Given the description of an element on the screen output the (x, y) to click on. 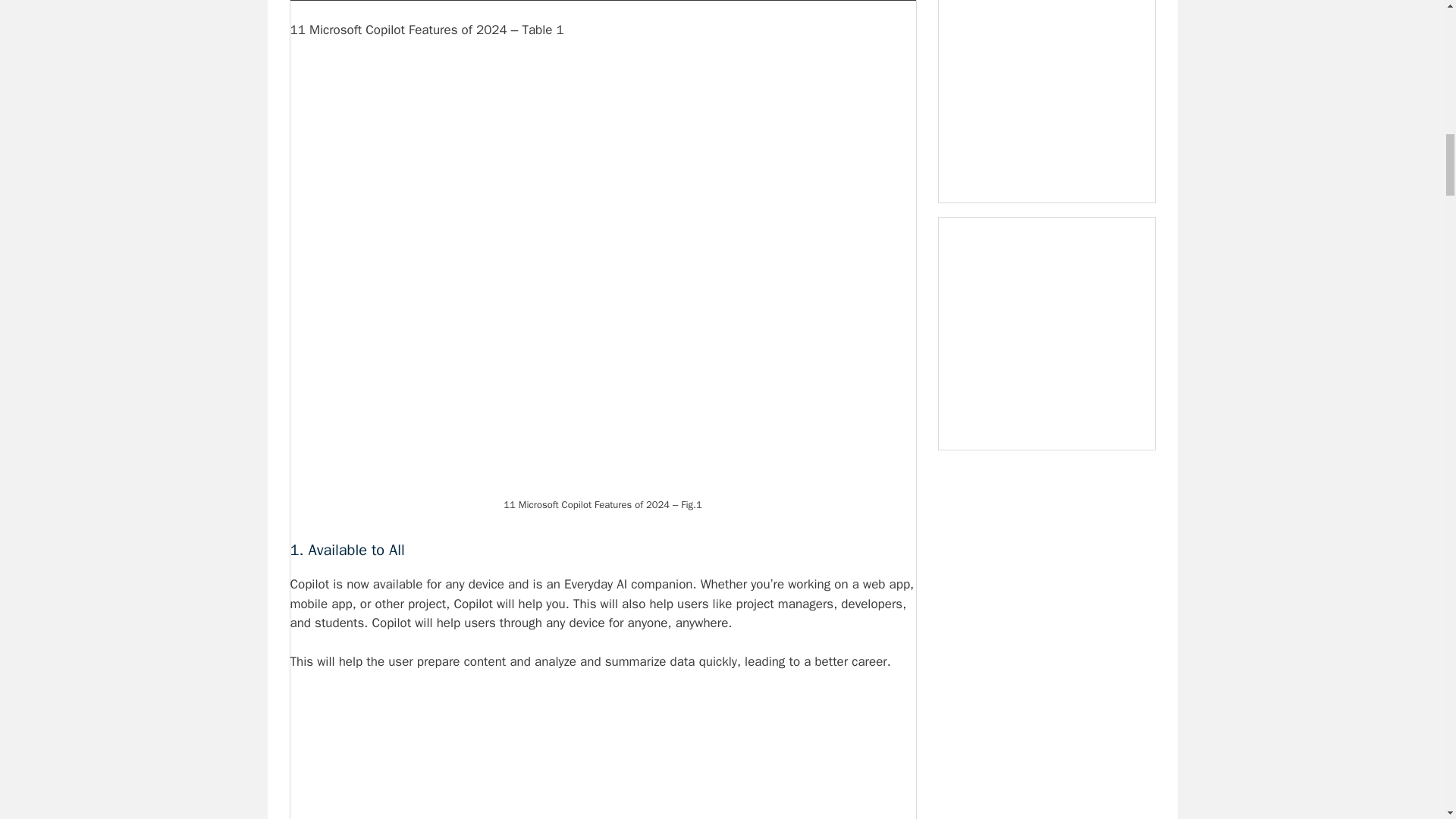
11 Microsoft Copilot Features of 2024 2 (602, 755)
